Given the description of an element on the screen output the (x, y) to click on. 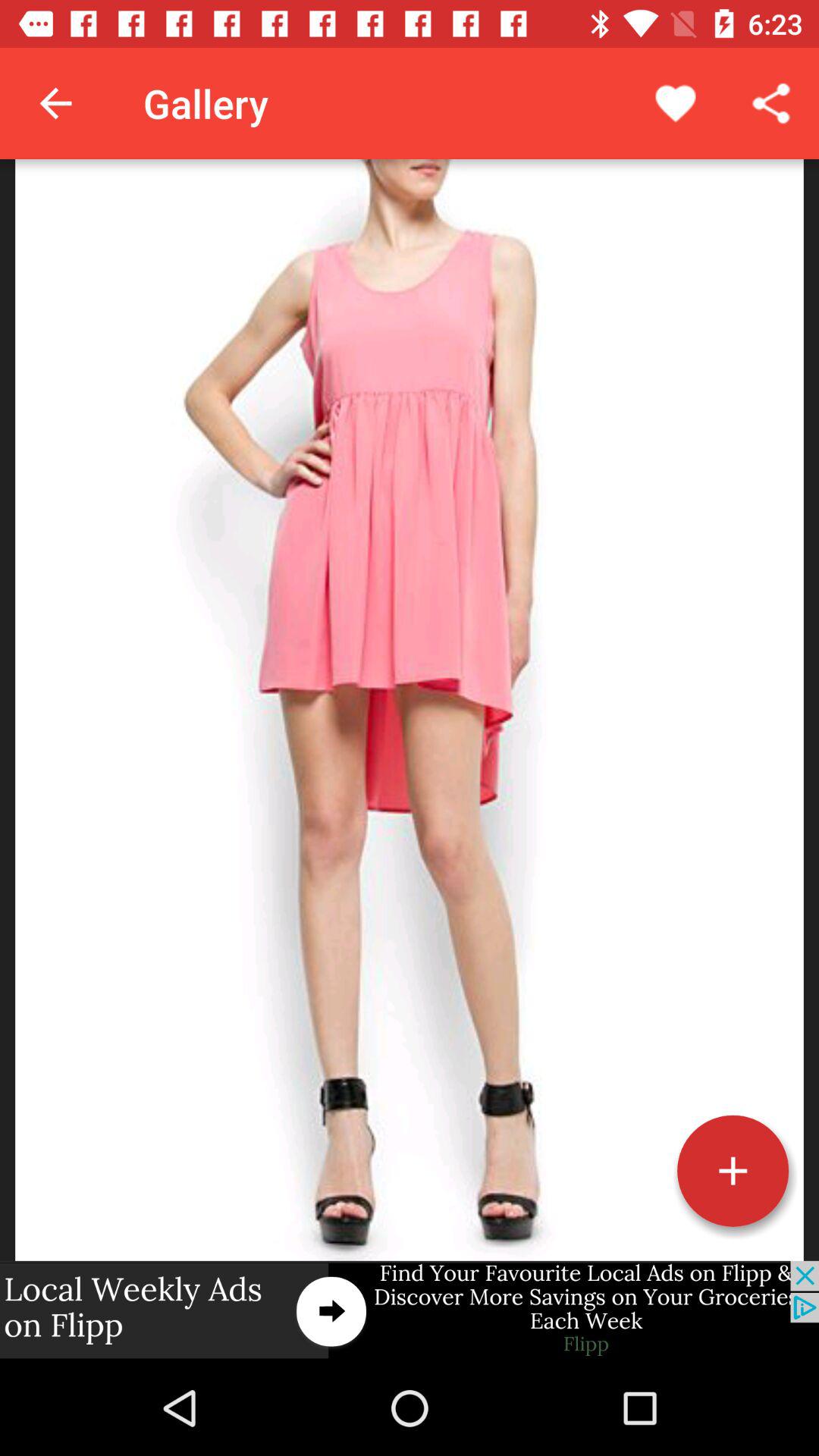
advertisement (409, 1310)
